Given the description of an element on the screen output the (x, y) to click on. 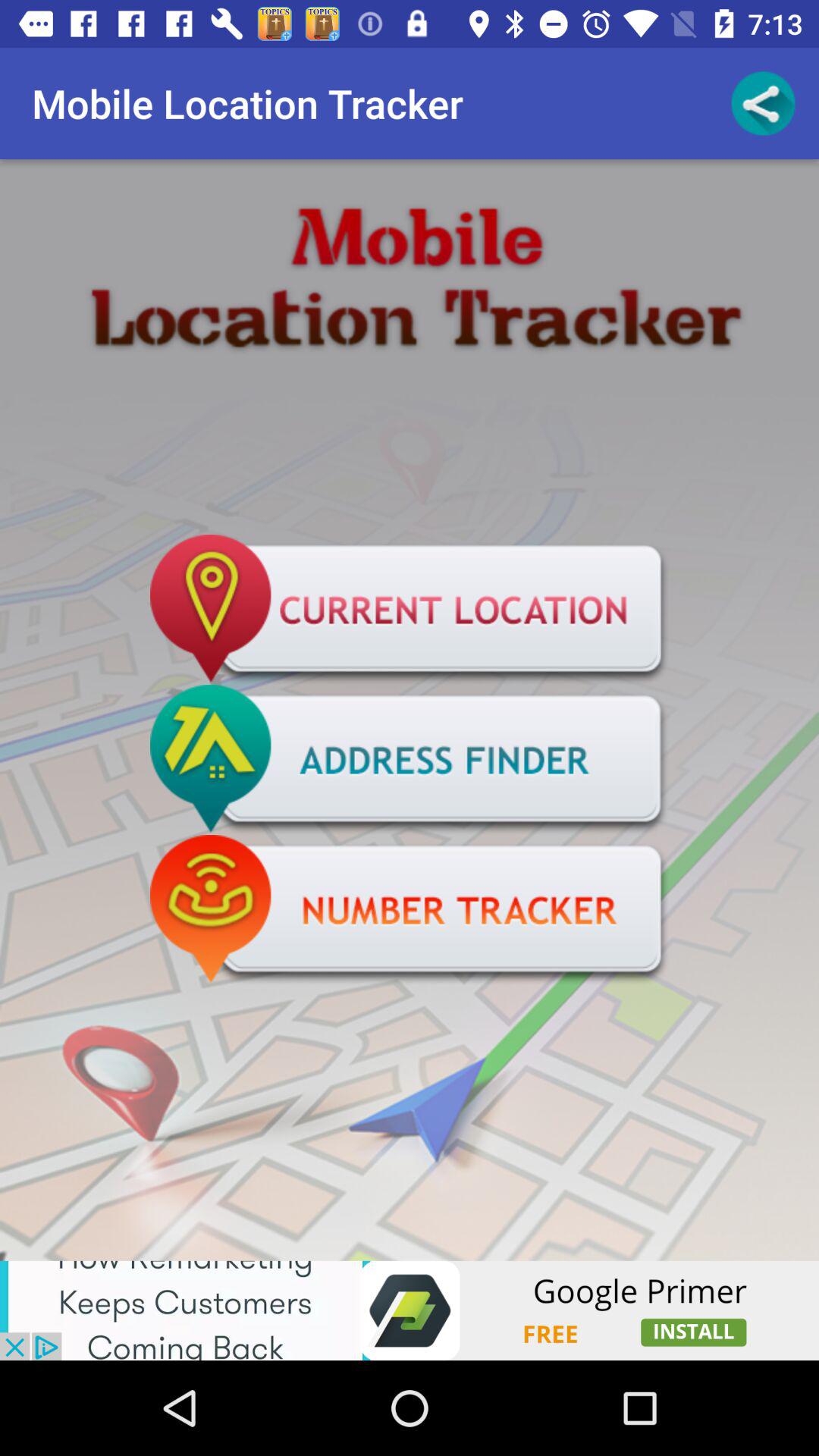
go to advertisement (409, 609)
